Given the description of an element on the screen output the (x, y) to click on. 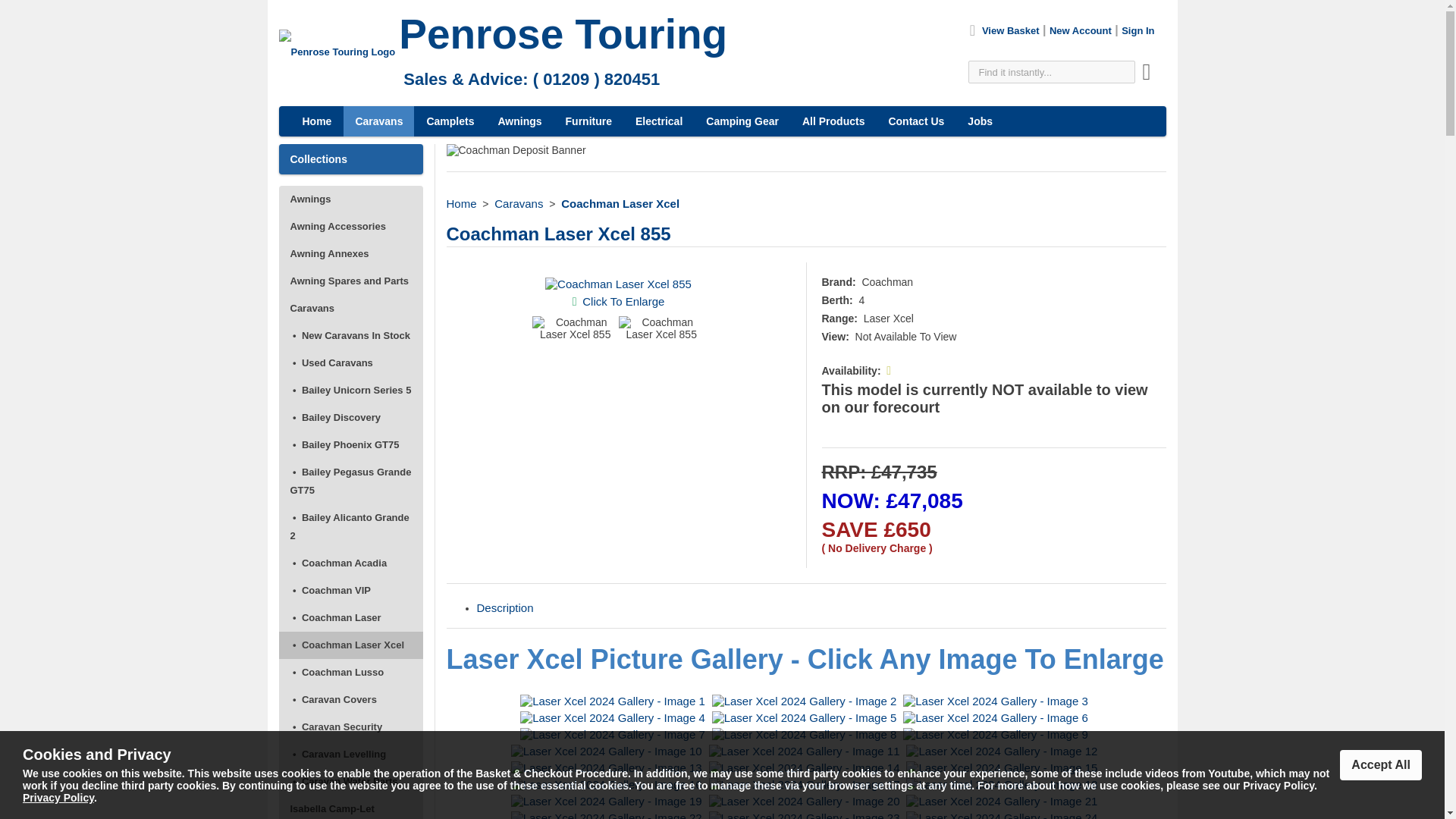
Awning Spares and Parts (351, 280)
Coachman Laser Xcel 855 (617, 283)
Caravans (351, 308)
Home (460, 203)
Awnings (351, 198)
Click To Enlarge (622, 300)
Isabella Camp-Let (351, 807)
Awning Accessories (351, 226)
